Given the description of an element on the screen output the (x, y) to click on. 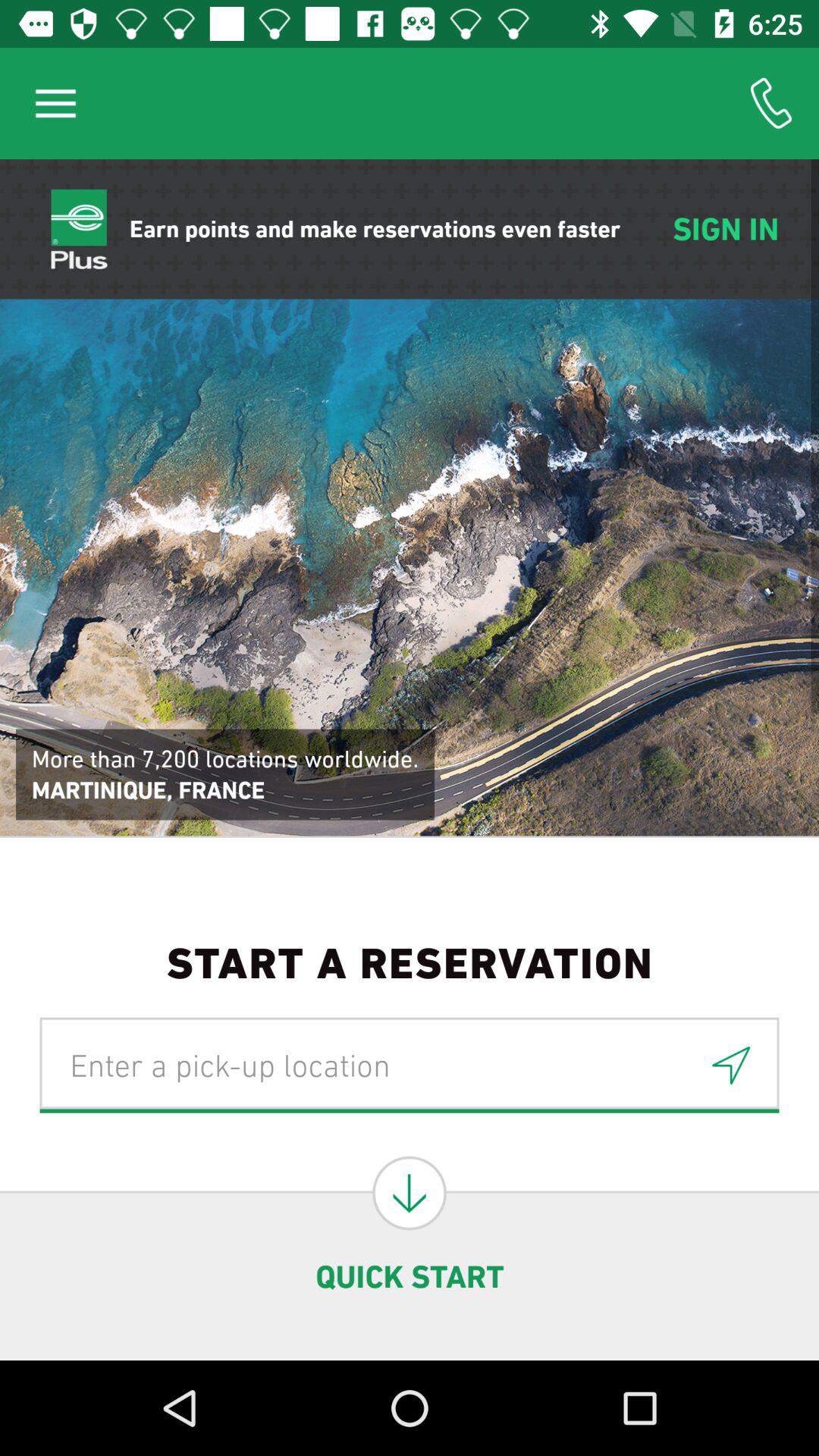
quick start (409, 1193)
